Given the description of an element on the screen output the (x, y) to click on. 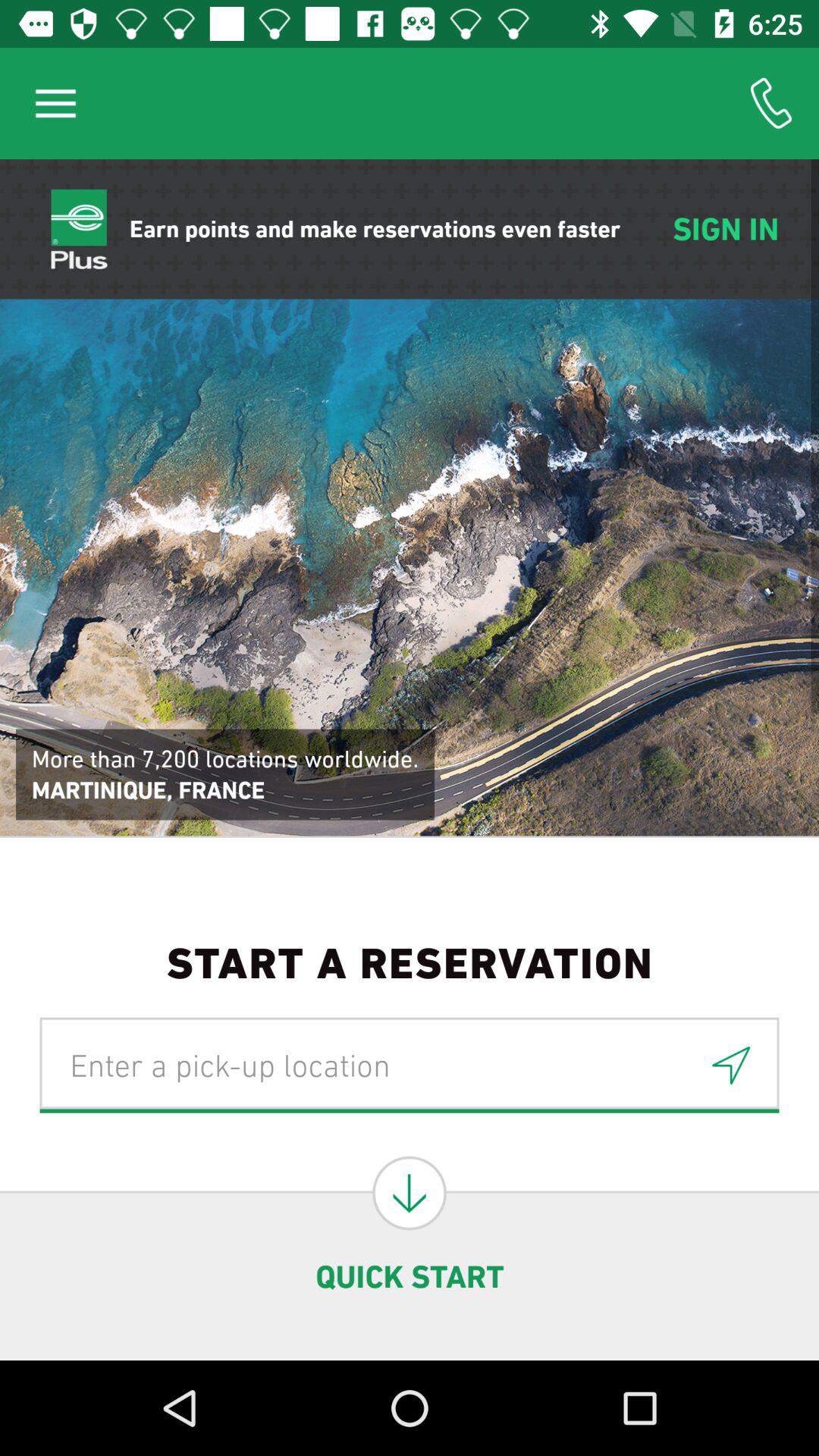
quick start (409, 1193)
